Given the description of an element on the screen output the (x, y) to click on. 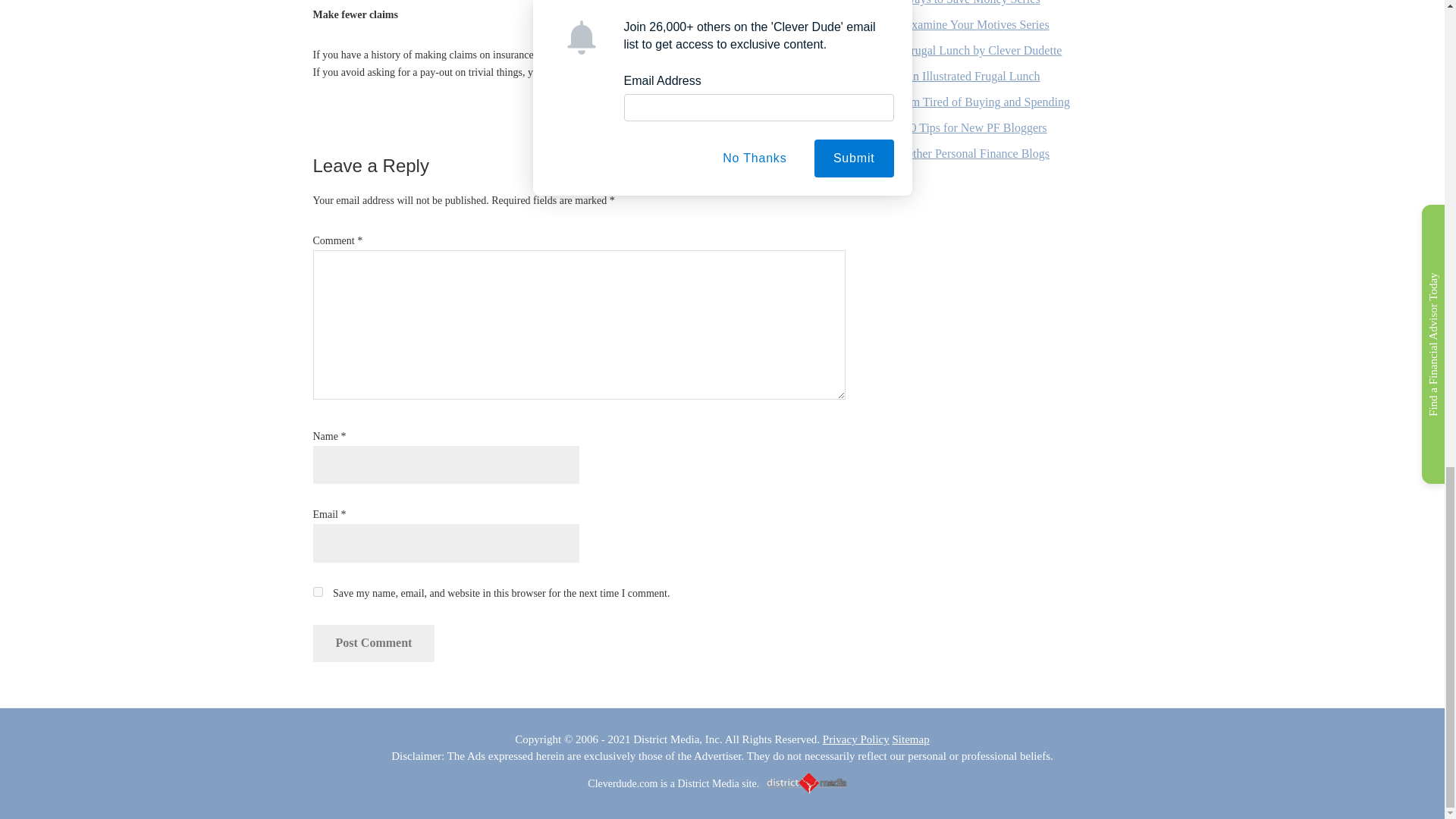
Other Personal Finance Blogs (976, 153)
Sitemap (909, 739)
Examine Your Motives Series (976, 24)
An Illustrated Frugal Lunch (971, 75)
Frugal Lunch by Clever Dudette (982, 50)
50 Tips for New PF Bloggers (975, 127)
Post Comment (373, 642)
Privacy Policy (855, 739)
yes (317, 592)
I'm Tired of Buying and Spending (986, 101)
Ways to Save Money Series (971, 2)
Post Comment (373, 642)
